Given the description of an element on the screen output the (x, y) to click on. 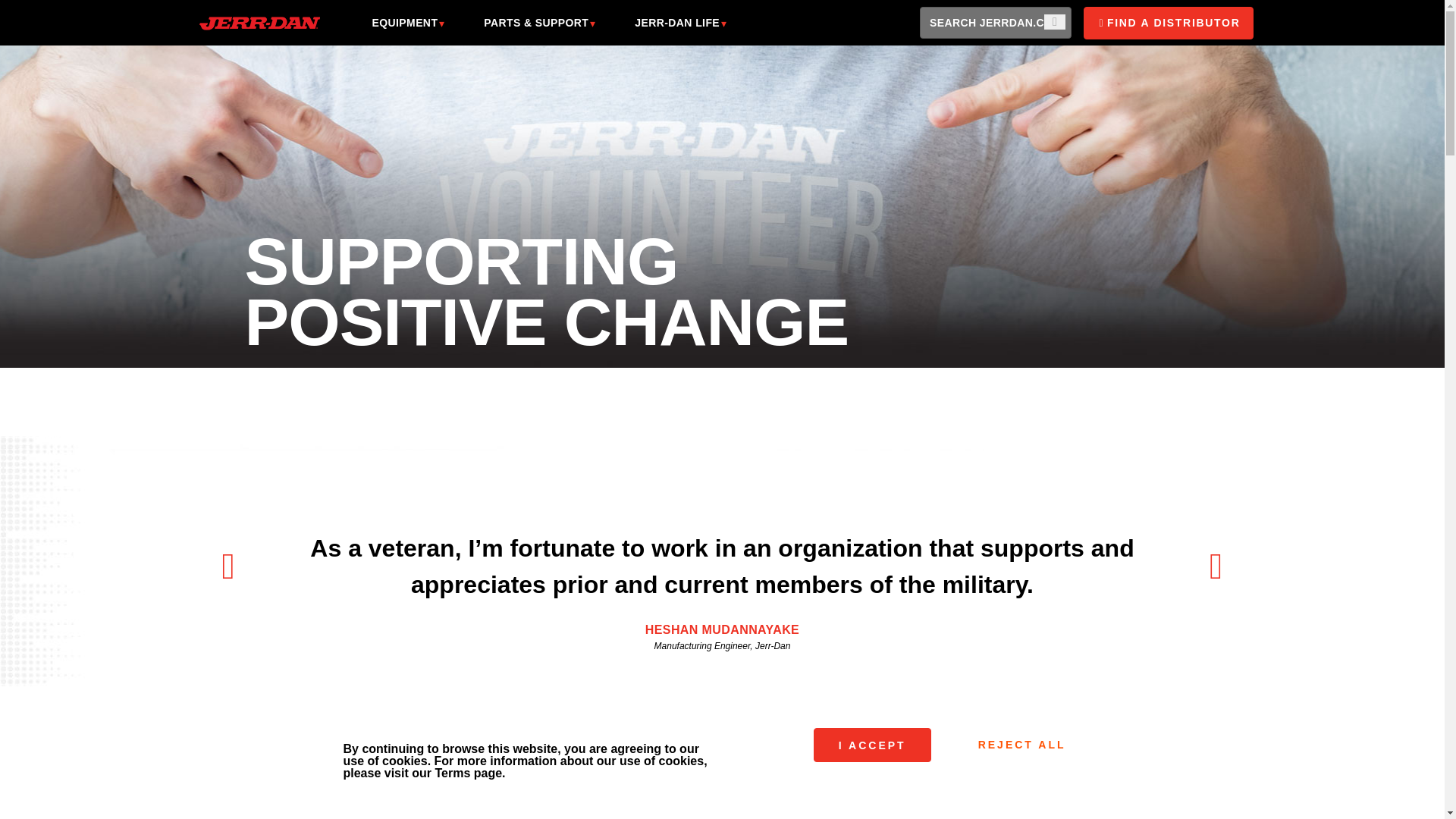
JERR-DAN LIFE (676, 23)
EQUIPMENT (404, 23)
